Given the description of an element on the screen output the (x, y) to click on. 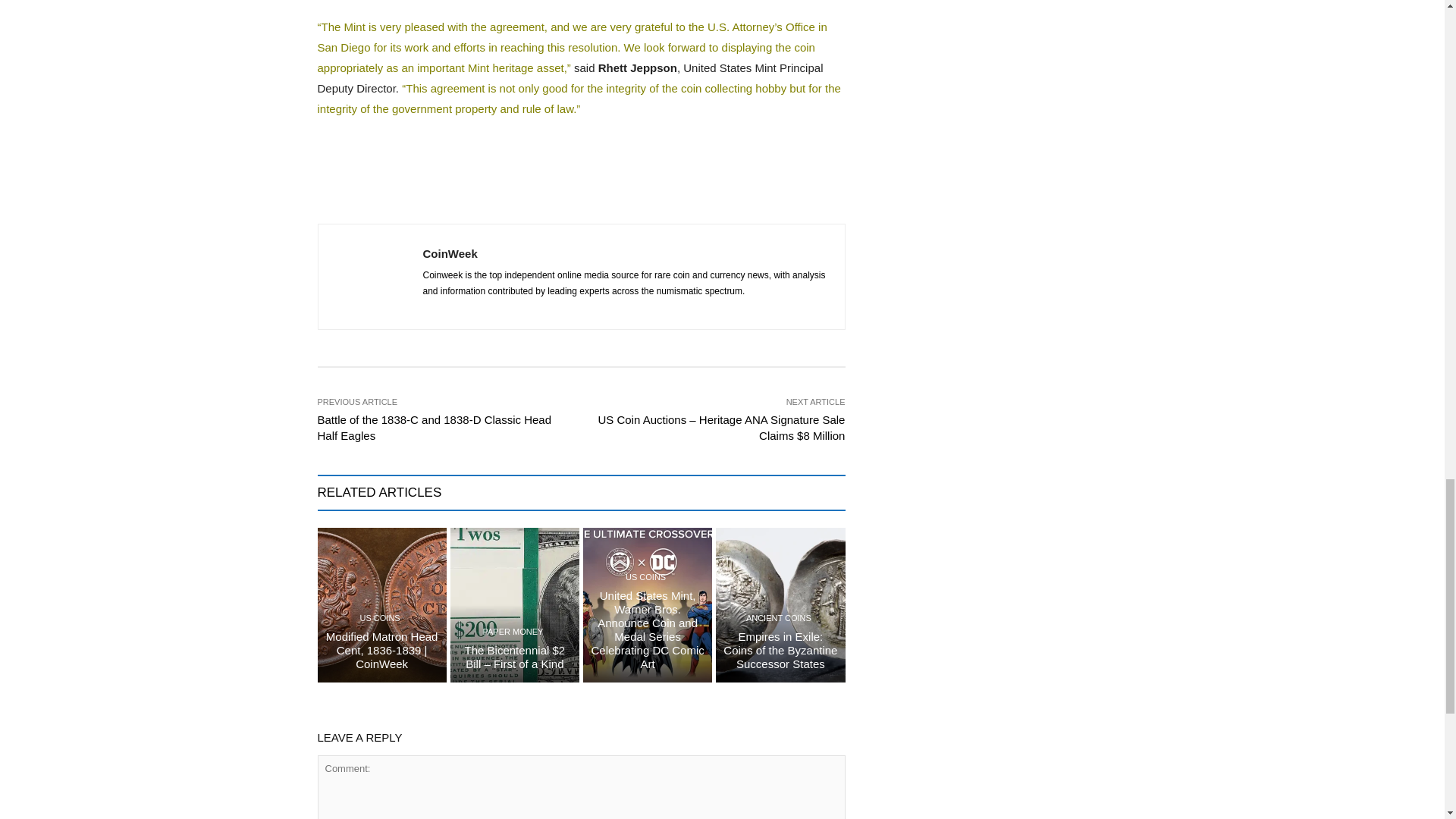
Empires in Exile: Coins of the Byzantine Successor States (780, 649)
CoinWeek (369, 276)
